Given the description of an element on the screen output the (x, y) to click on. 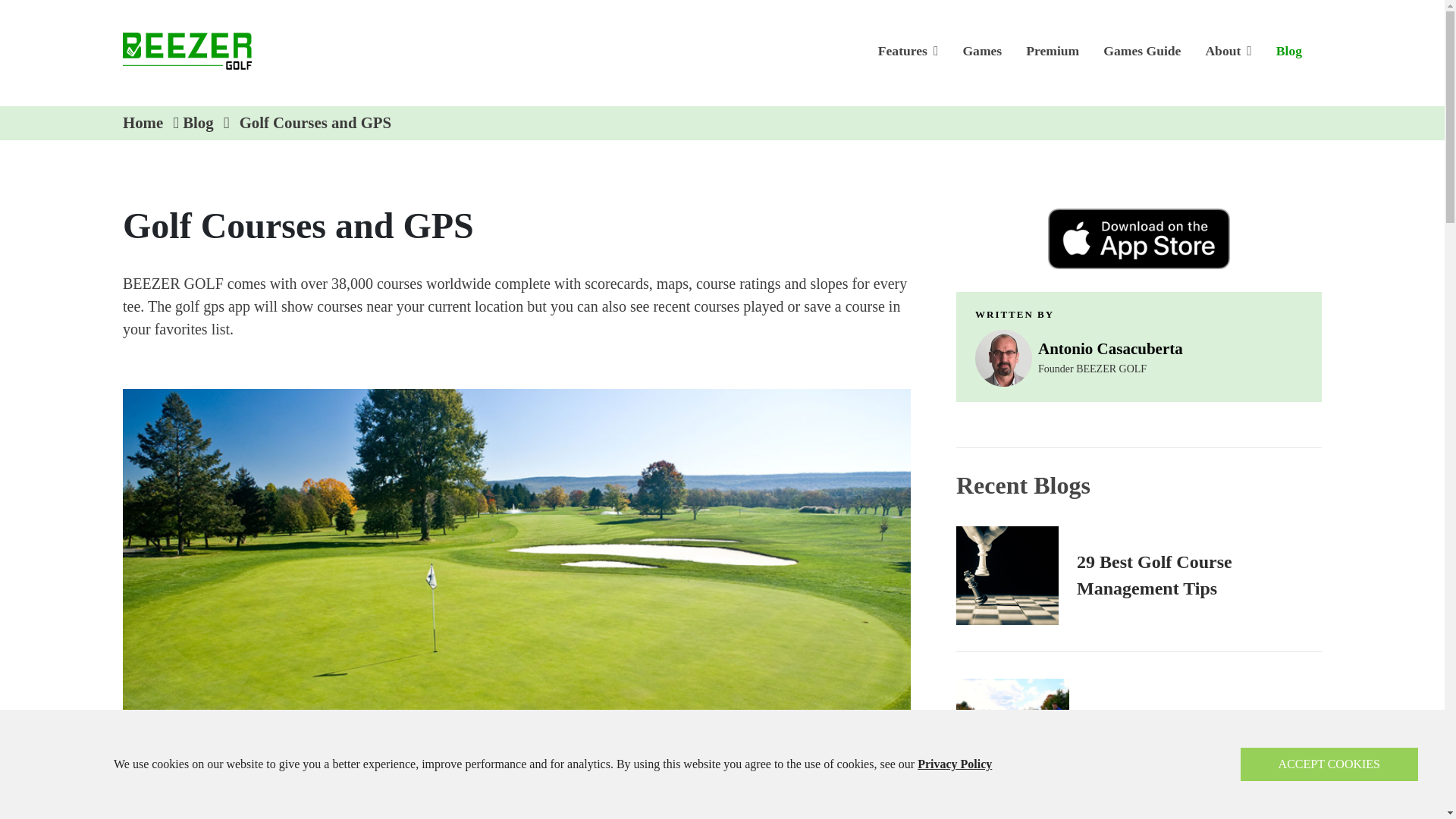
Features (908, 50)
Games (981, 50)
Premium (1051, 50)
Games Guide (1141, 50)
About (1227, 50)
